Given the description of an element on the screen output the (x, y) to click on. 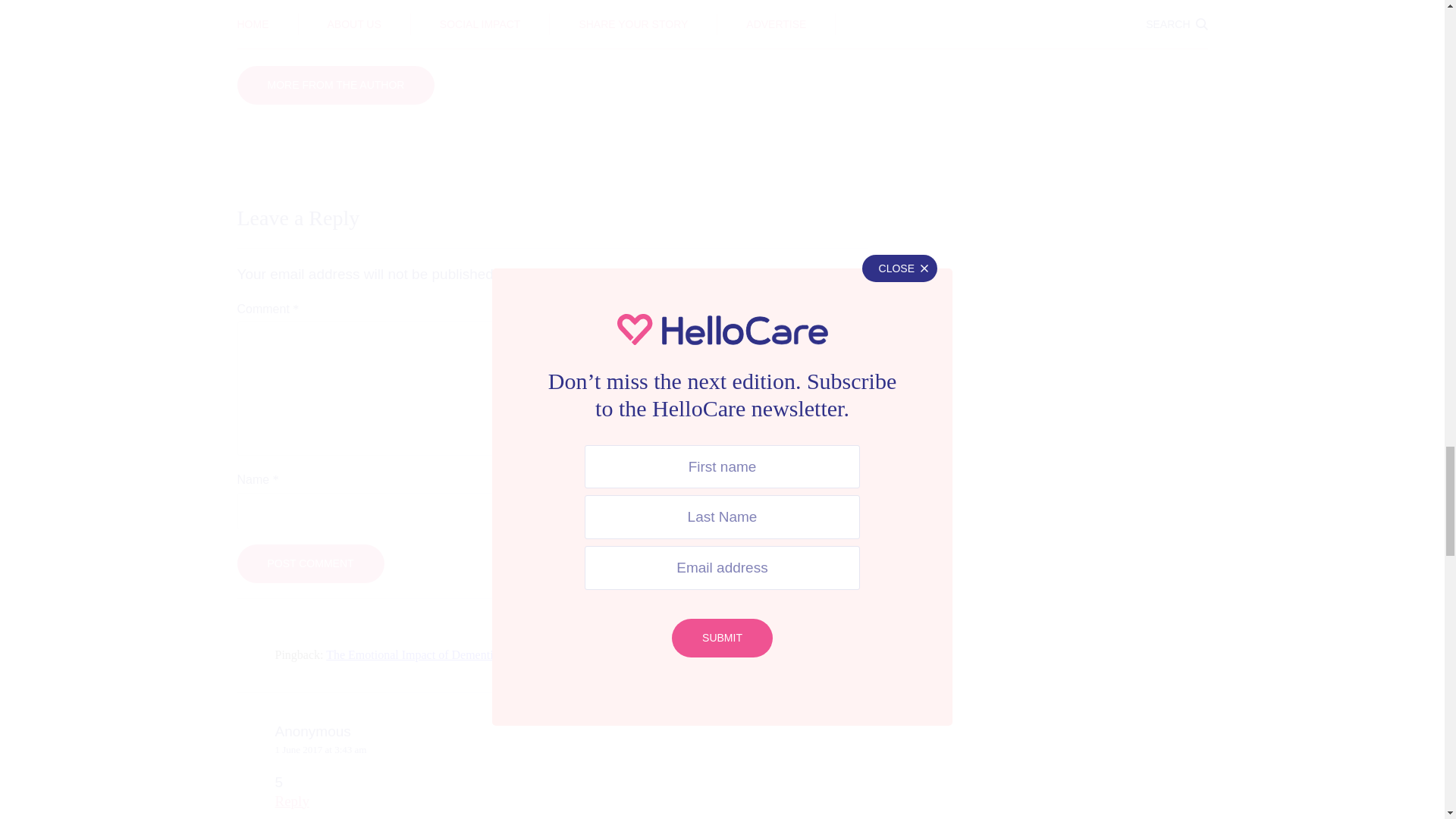
Share on Facebook (372, 25)
Share via Email (792, 25)
Share on Twitter (512, 25)
Post Comment (309, 563)
Share on linkedIn (652, 25)
